Given the description of an element on the screen output the (x, y) to click on. 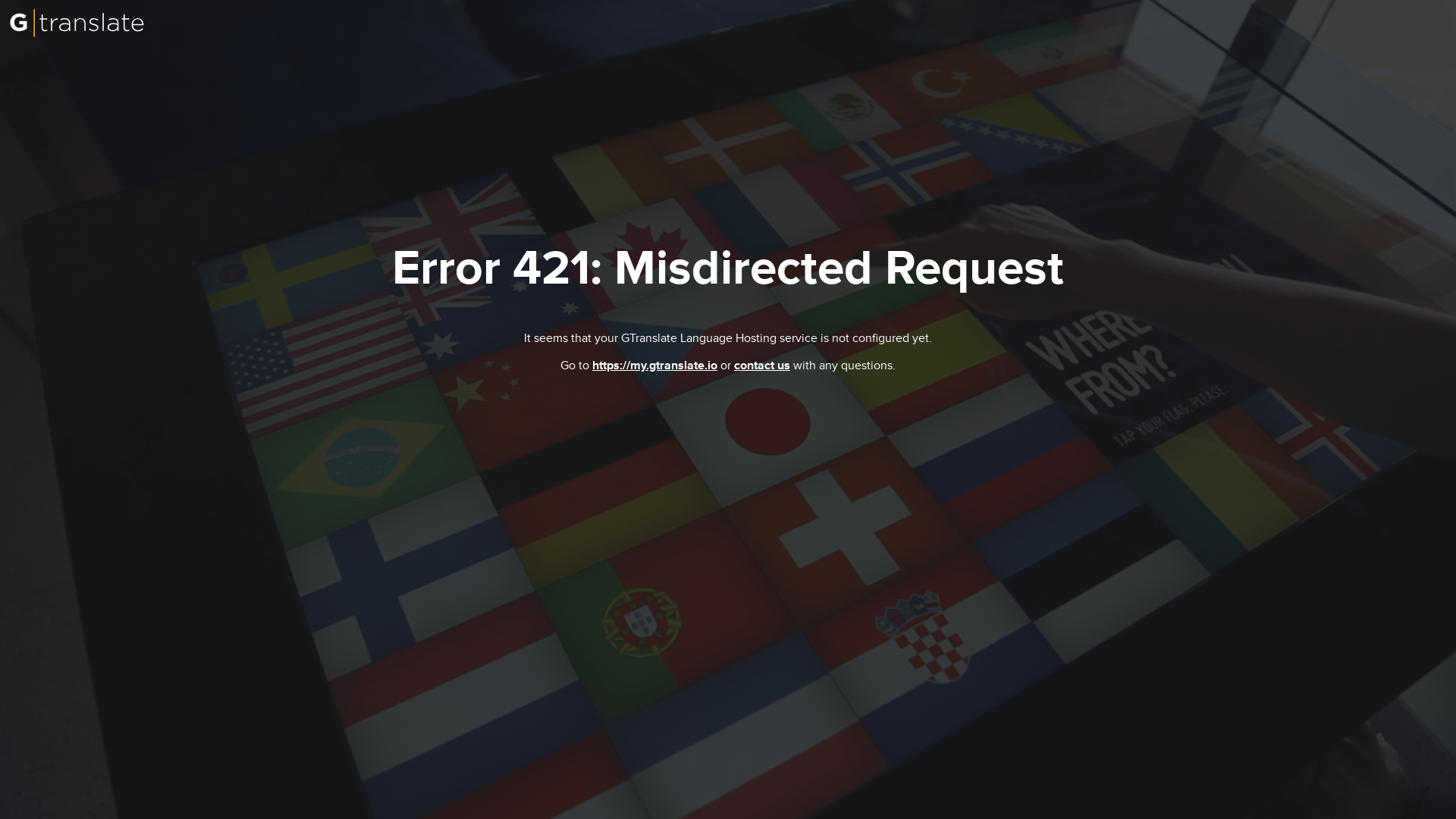
contact us (761, 365)
